Given the description of an element on the screen output the (x, y) to click on. 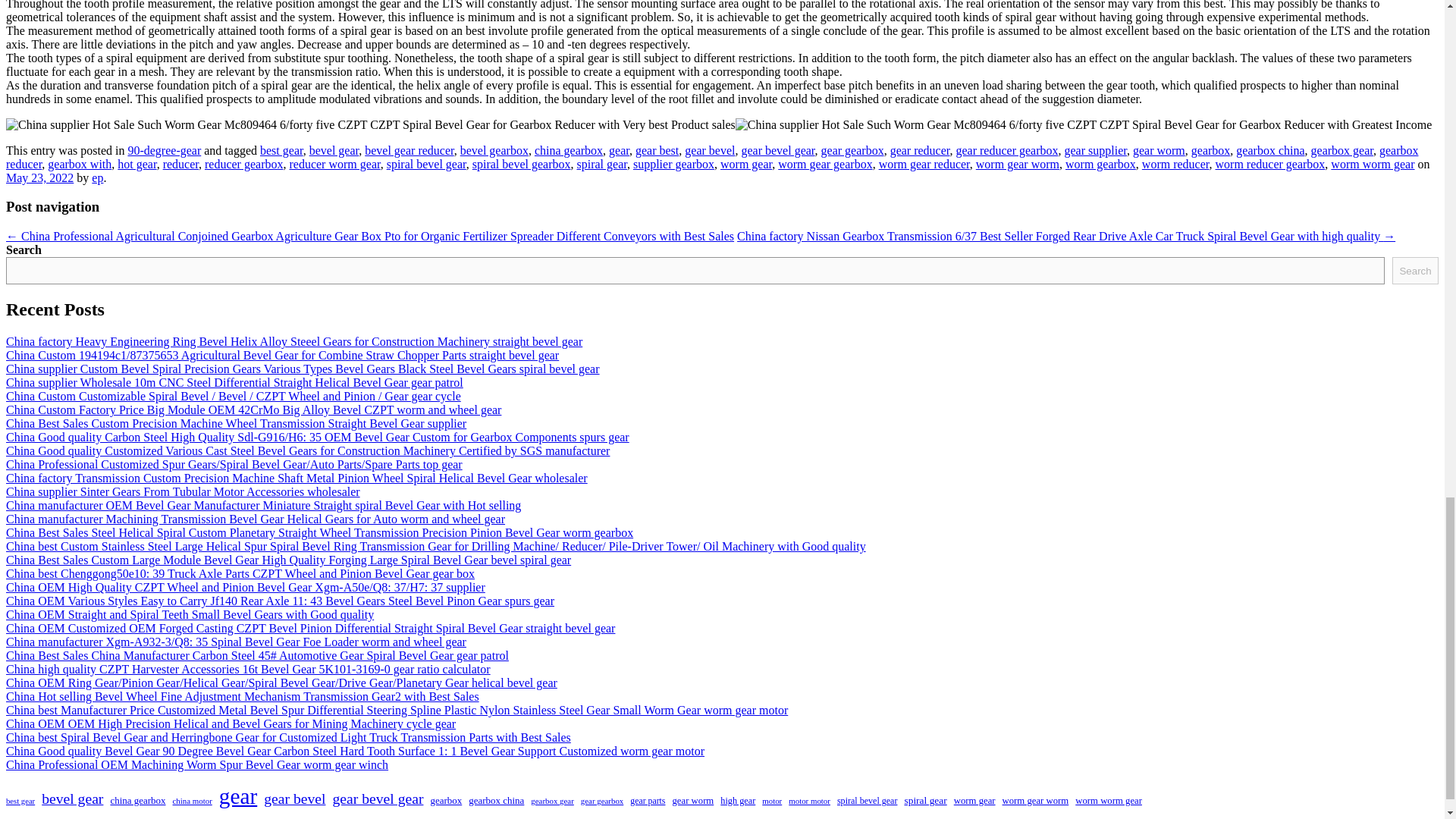
worm gearbox (1100, 164)
spiral gear (601, 164)
gearbox with (80, 164)
spiral bevel gearbox (520, 164)
gearbox gear (1342, 150)
gear best (656, 150)
china gearbox (568, 150)
reducer worm gear (334, 164)
gearbox (1210, 150)
worm gear worm (1017, 164)
reducer (180, 164)
worm reducer (1175, 164)
gear reducer gearbox (1006, 150)
gear reducer (919, 150)
gear gearbox (852, 150)
